Given the description of an element on the screen output the (x, y) to click on. 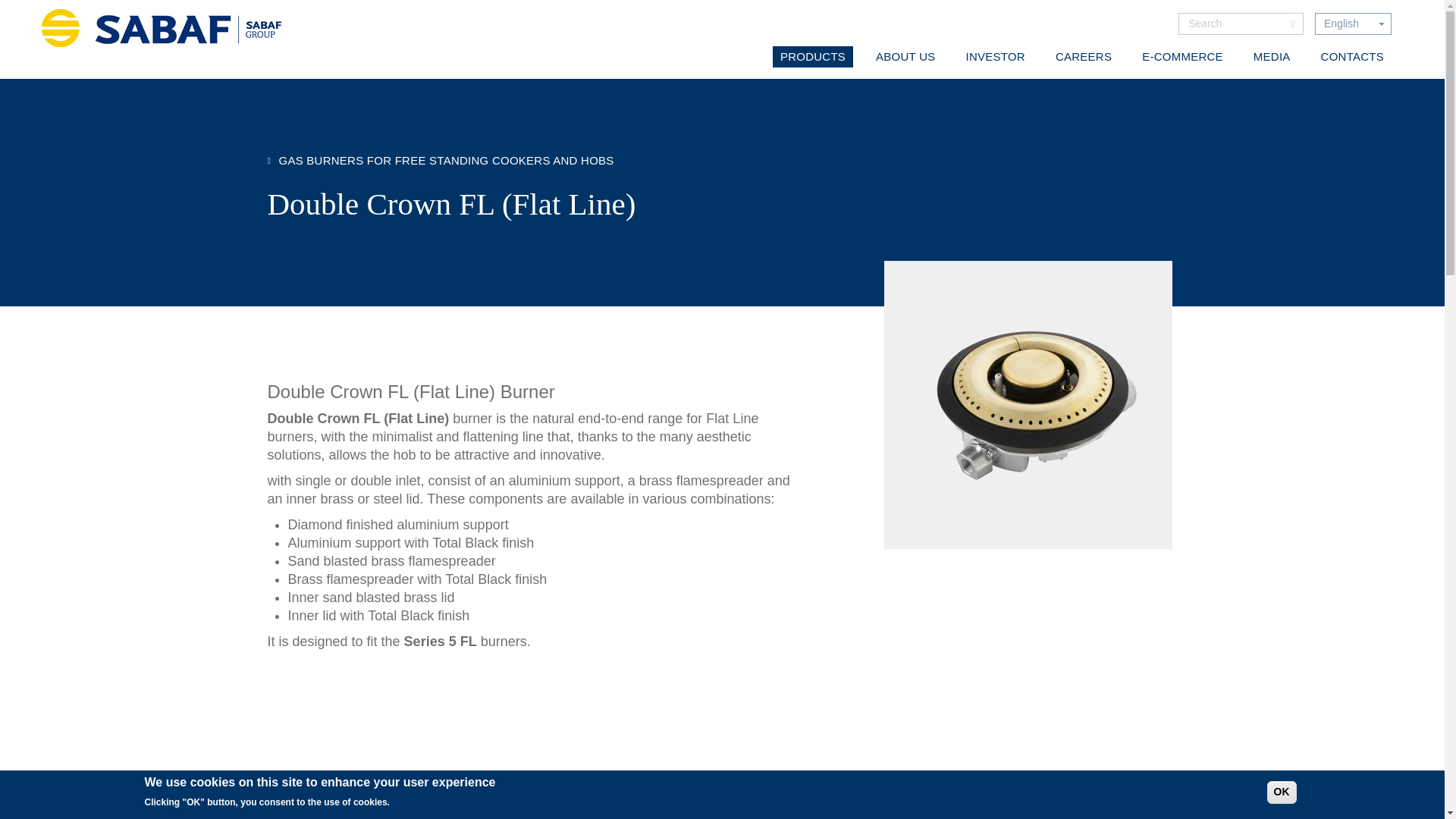
PRODUCTS (813, 56)
CAREERS (1083, 56)
Toggle Dropdown (1352, 23)
MEDIA (1272, 56)
CONTACTS (1352, 56)
ABOUT US (904, 56)
English (1341, 23)
GAS BURNERS FOR FREE STANDING COOKERS AND HOBS (439, 160)
Search (1293, 23)
INVESTOR (995, 56)
Home (167, 27)
Enter the terms you wish to search for. (1231, 22)
E-COMMERCE (1182, 56)
